Given the description of an element on the screen output the (x, y) to click on. 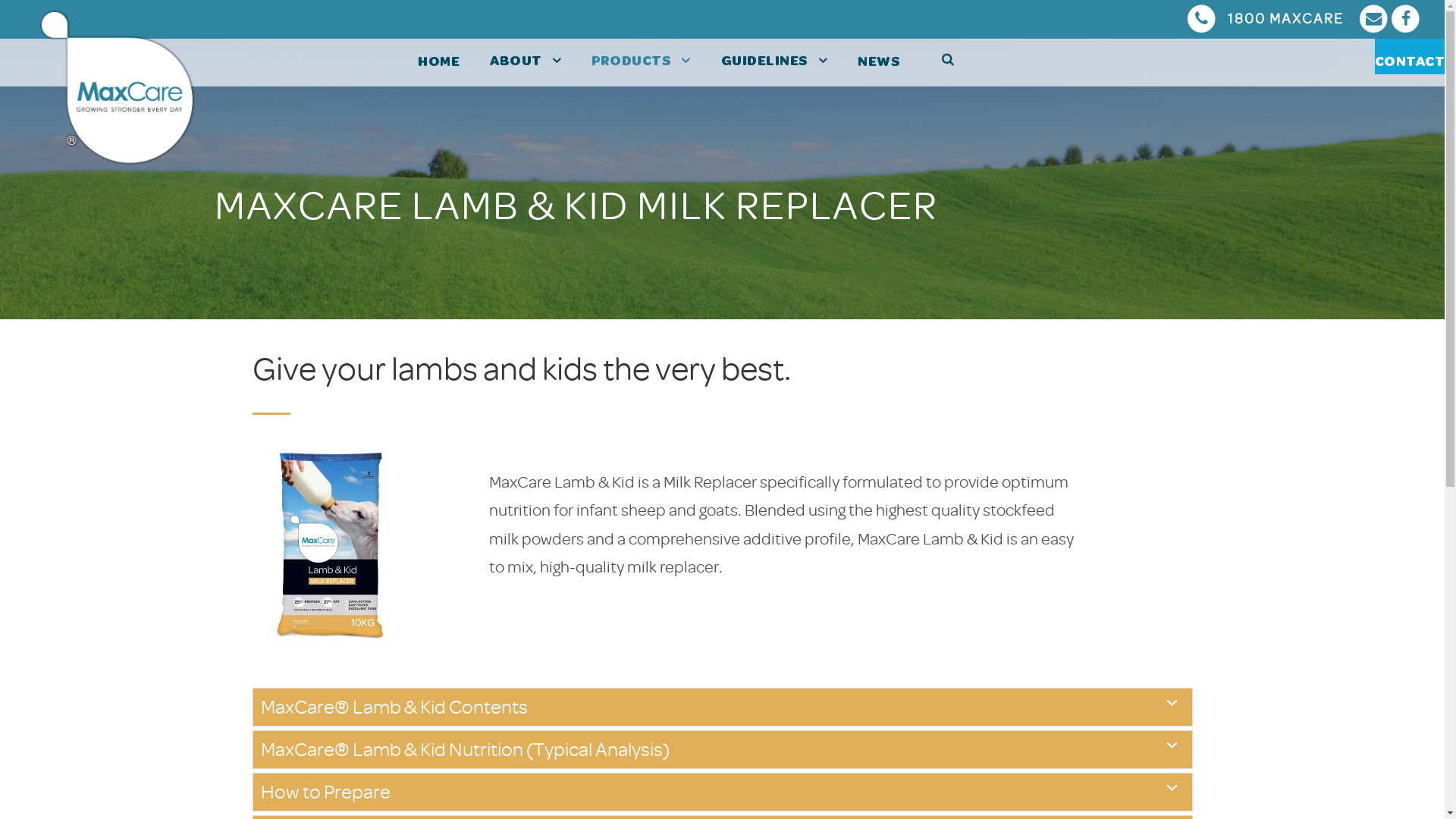
1800 MAXCARE Element type: text (1271, 18)
HOME Element type: text (438, 63)
PRODUCTS Element type: text (640, 61)
NEWS Element type: text (878, 63)
CONTACT Element type: text (1409, 63)
ABOUT Element type: text (525, 61)
GUIDELINES Element type: text (774, 61)
